Given the description of an element on the screen output the (x, y) to click on. 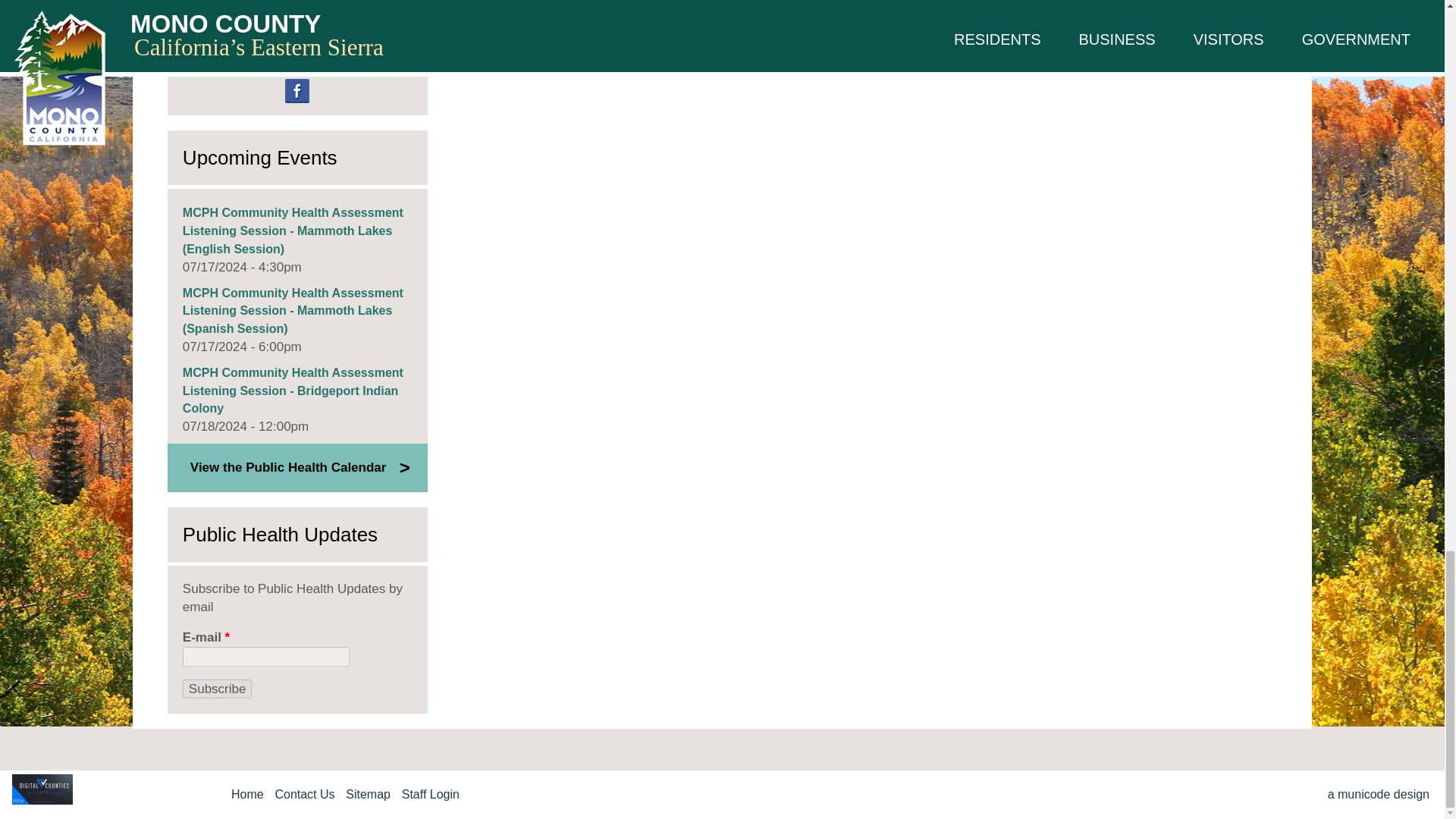
Subscribe (217, 689)
Facebook (296, 90)
